Given the description of an element on the screen output the (x, y) to click on. 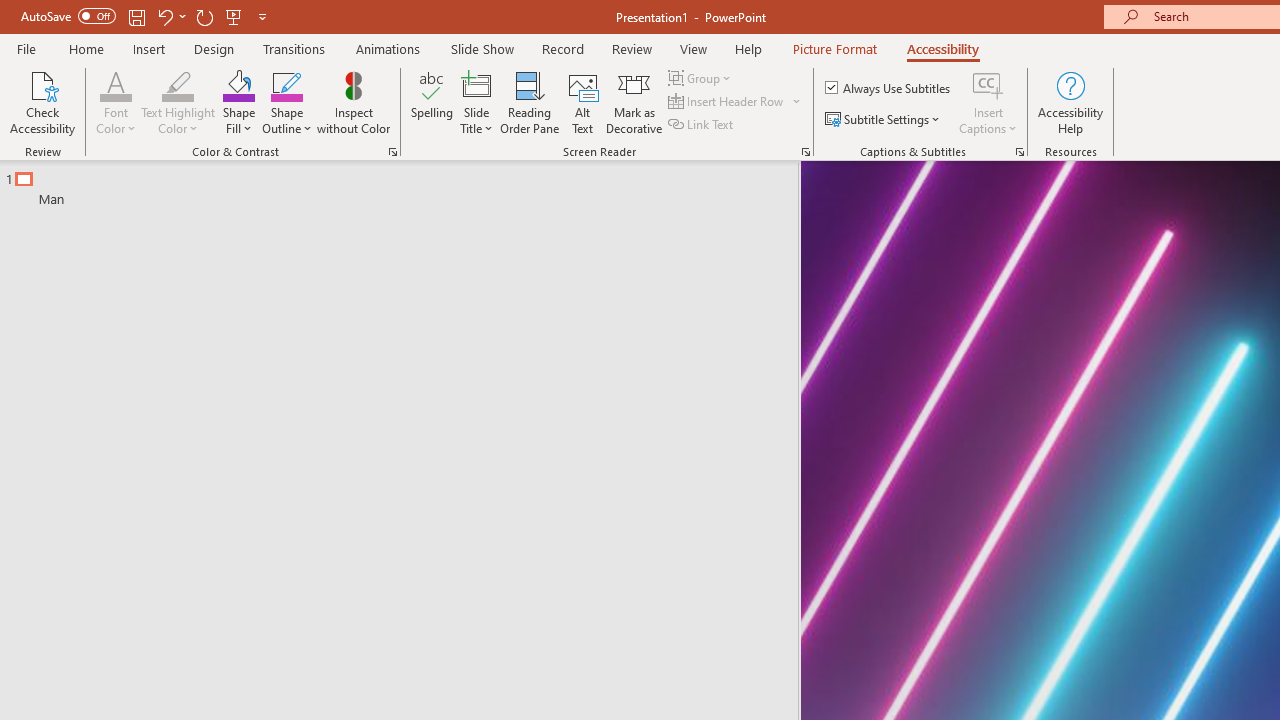
Shape Fill Orange, Accent 2 (238, 84)
Shape Outline Blue, Accent 1 (286, 84)
Mark as Decorative (634, 102)
Spelling... (432, 102)
Check Accessibility (42, 102)
Insert Captions (988, 102)
Outline (408, 184)
Text Highlight Color (178, 84)
Slide Title (476, 102)
